Given the description of an element on the screen output the (x, y) to click on. 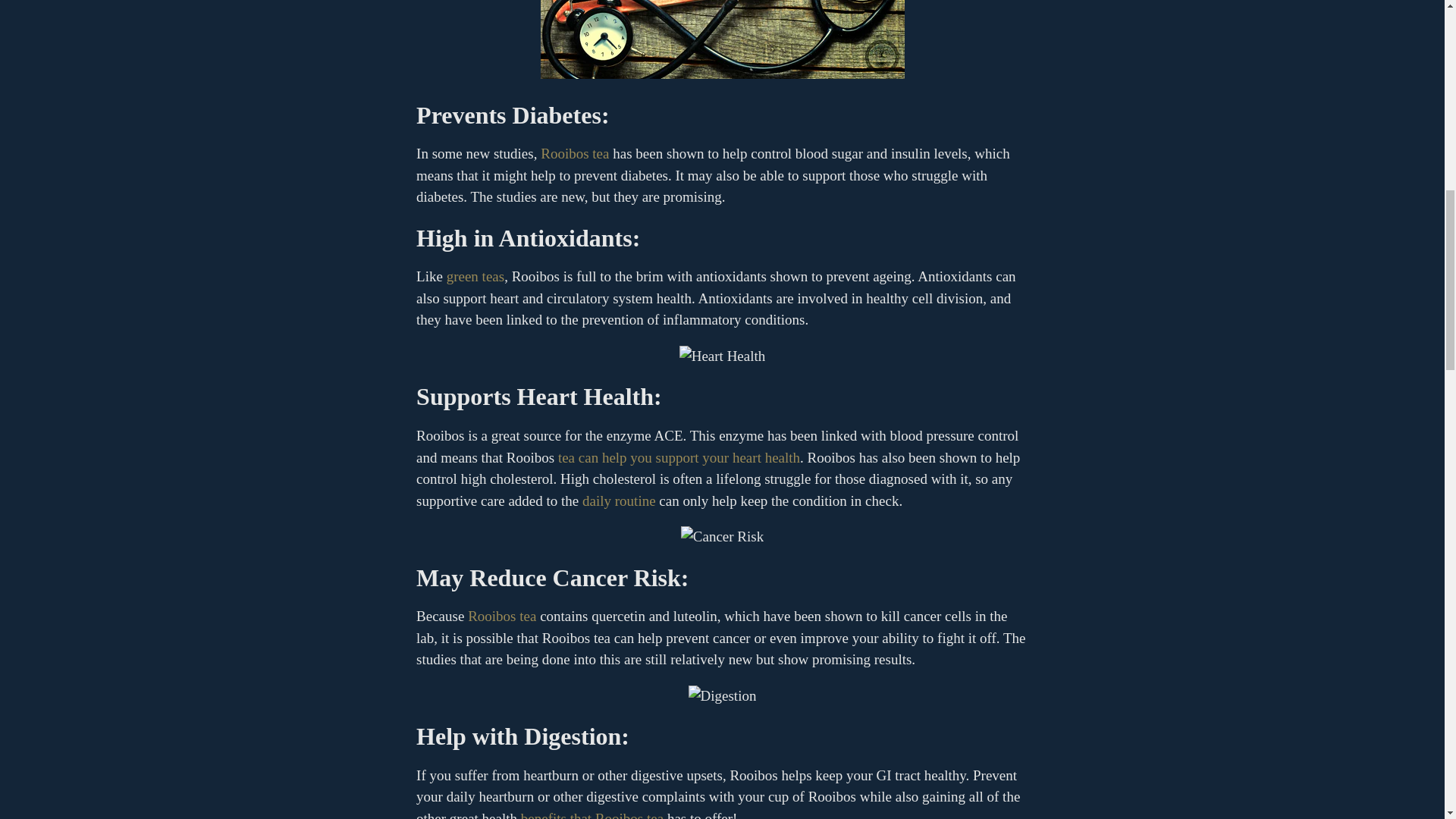
tea can help you support your heart health (678, 457)
benefits that Rooibos tea (592, 814)
Rooibos tea (501, 616)
Rooibos tea (574, 153)
green teas (474, 276)
daily routine (619, 500)
